Given the description of an element on the screen output the (x, y) to click on. 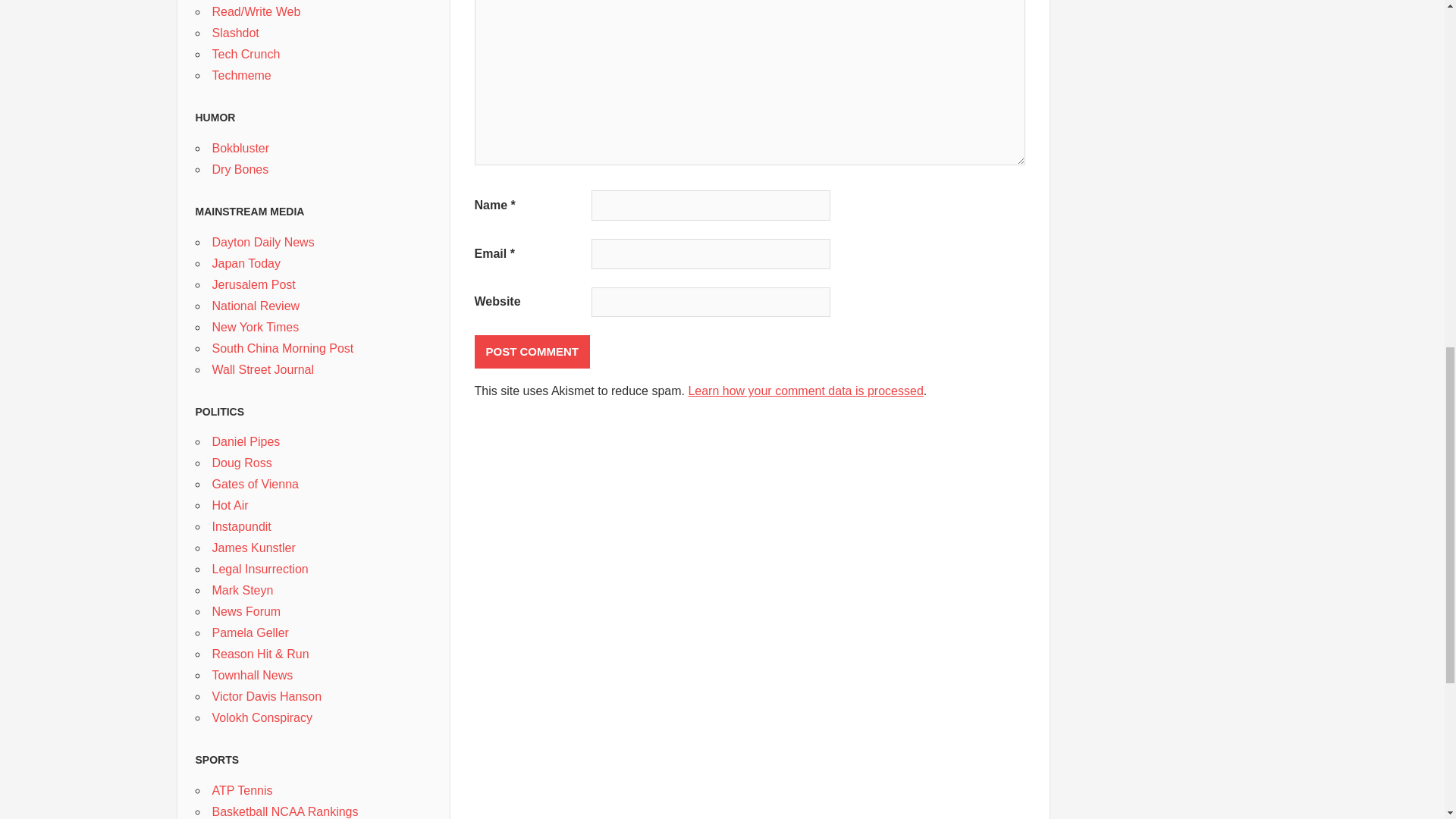
Learn how your comment data is processed (805, 390)
Post Comment (532, 351)
Dry Bones (240, 169)
Post Comment (532, 351)
Techmeme (241, 74)
Tech Crunch (246, 53)
Japan Today (246, 263)
Dayton Daily News (263, 241)
Slashdot (235, 32)
Bokbluster (240, 147)
